Given the description of an element on the screen output the (x, y) to click on. 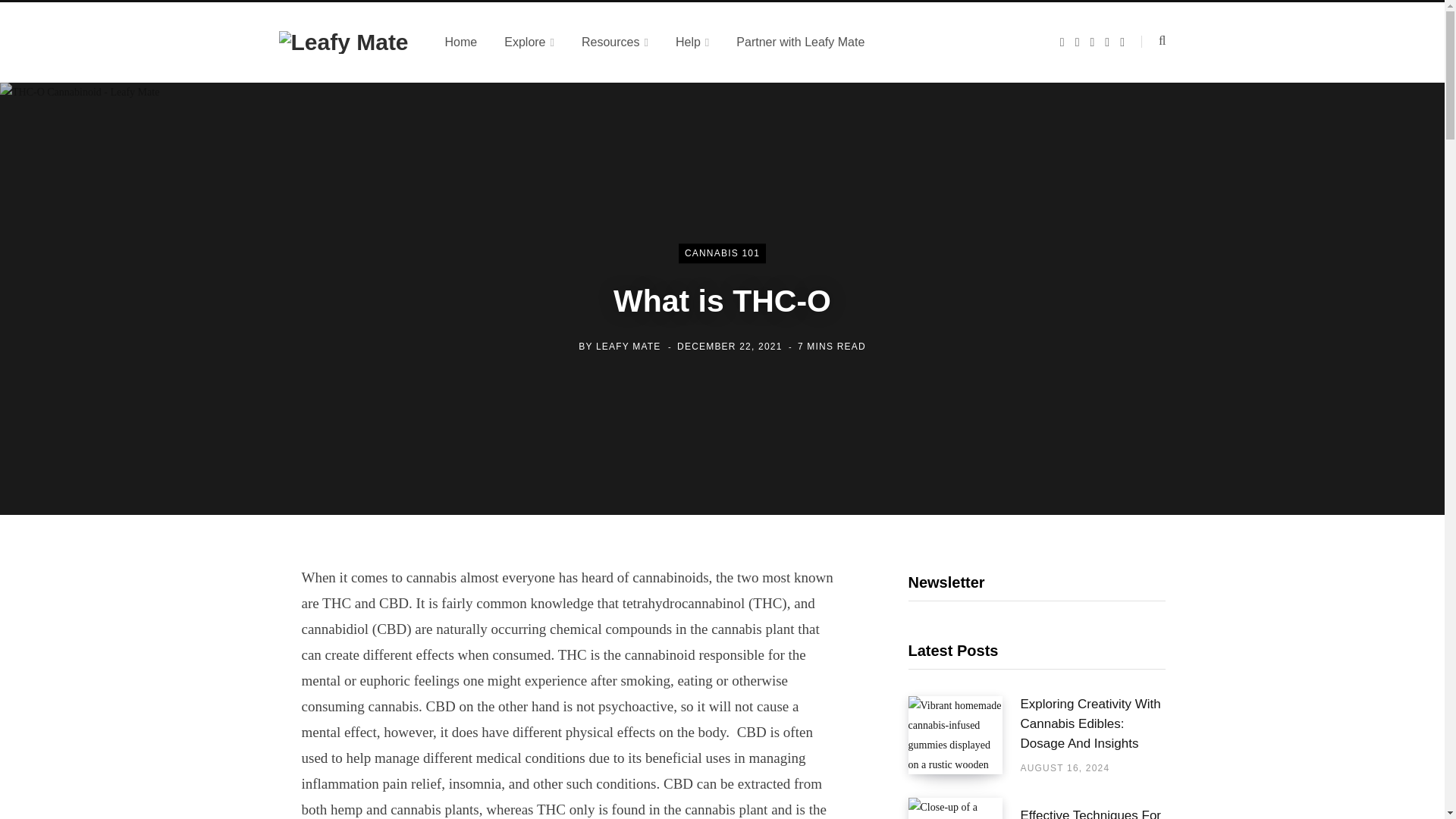
Resources (614, 41)
Home (461, 41)
Partner with Leafy Mate (799, 41)
CANNABIS 101 (721, 252)
Leafy Mate (344, 42)
Search (1153, 41)
Posts by Leafy Mate (628, 347)
Explore (528, 41)
LEAFY MATE (628, 347)
Help (692, 41)
